Given the description of an element on the screen output the (x, y) to click on. 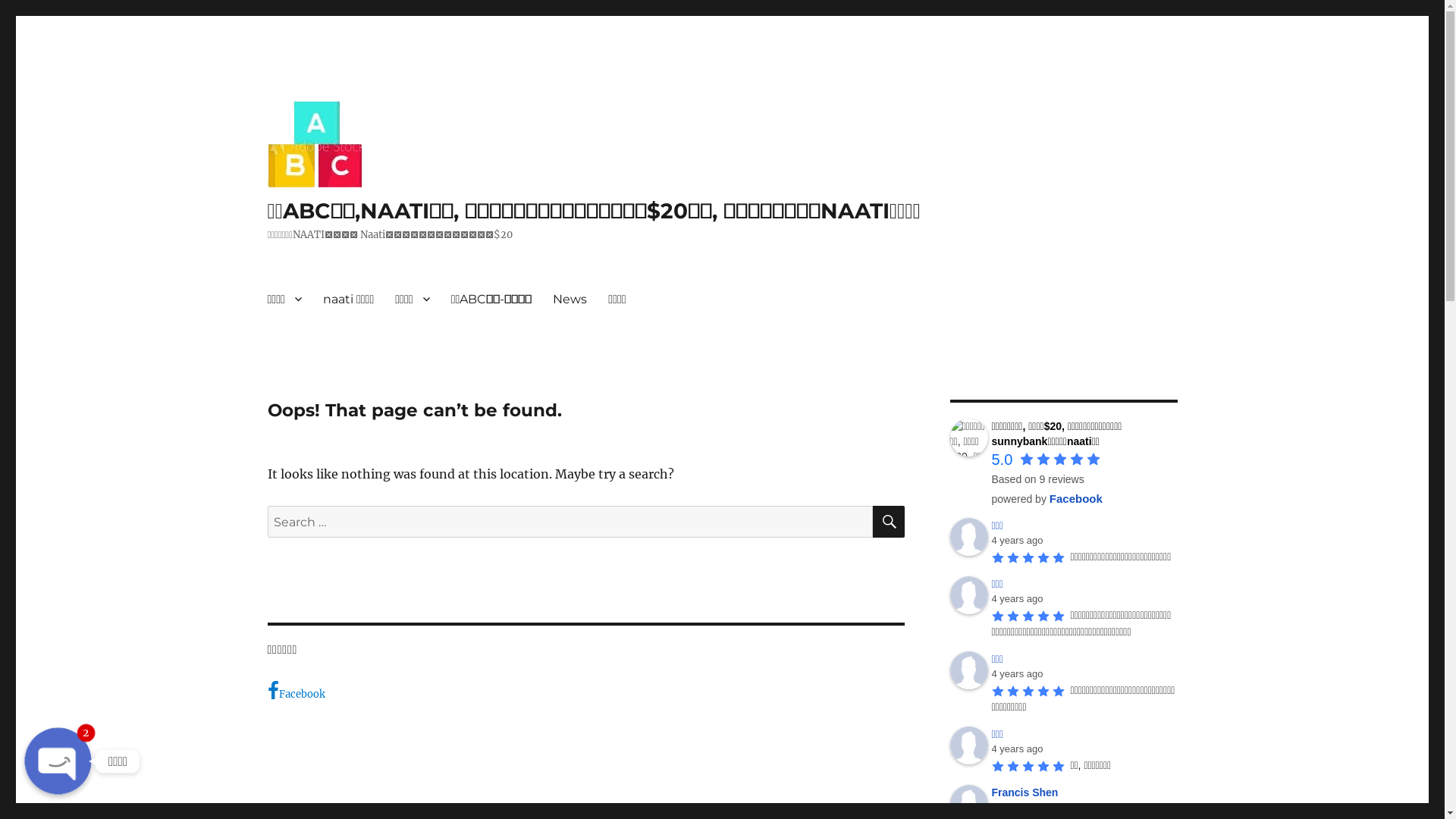
News Element type: text (569, 298)
SEARCH Element type: text (887, 521)
Francis Shen Element type: text (1027, 792)
Facebook Element type: text (584, 691)
